Given the description of an element on the screen output the (x, y) to click on. 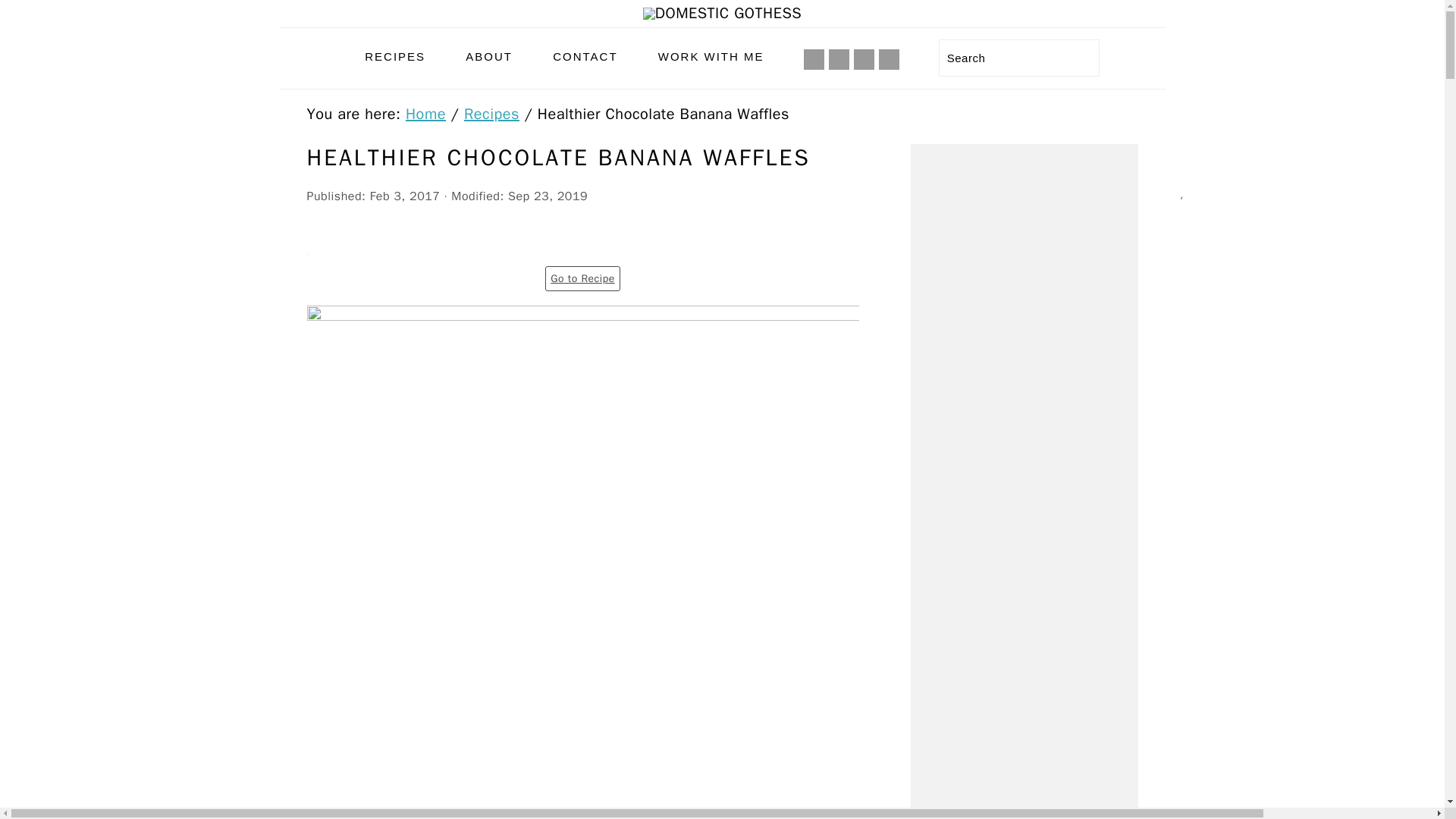
CONTACT (585, 56)
Instagram (839, 59)
ABOUT (488, 56)
Facebook (813, 59)
Domestic Gothess (722, 13)
WORK WITH ME (711, 56)
RECIPES (395, 56)
Recipes (491, 113)
Twitter (888, 59)
Pinterest (864, 59)
Pinterest (863, 59)
Home (425, 113)
